Given the description of an element on the screen output the (x, y) to click on. 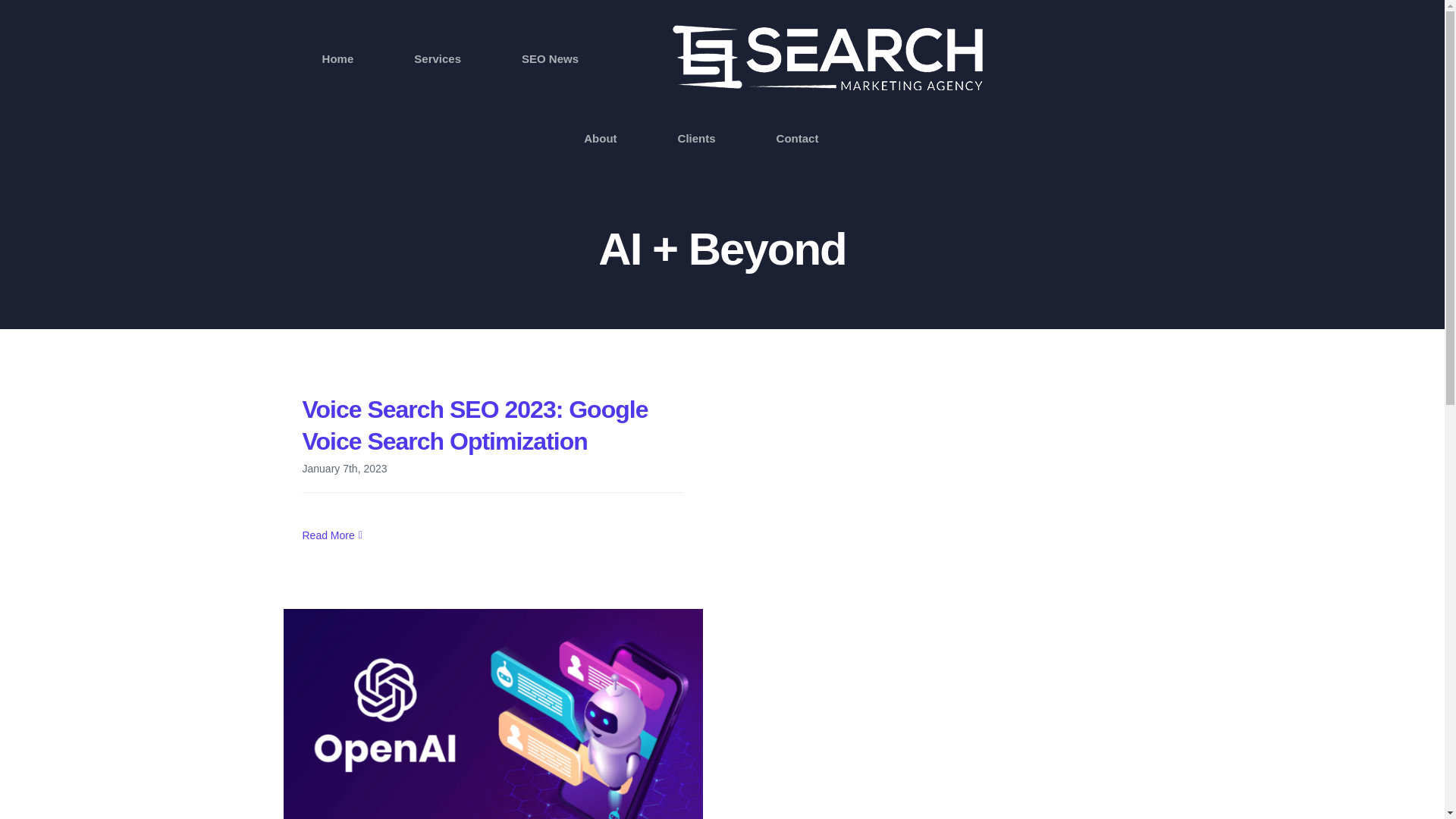
SEO News (549, 58)
Read More (327, 535)
Clients (697, 137)
Contact (797, 137)
Services (437, 58)
Voice Search SEO 2023: Google Voice Search Optimization (474, 425)
Home (337, 58)
About (599, 137)
Search Engine Optimization News (549, 58)
